Given the description of an element on the screen output the (x, y) to click on. 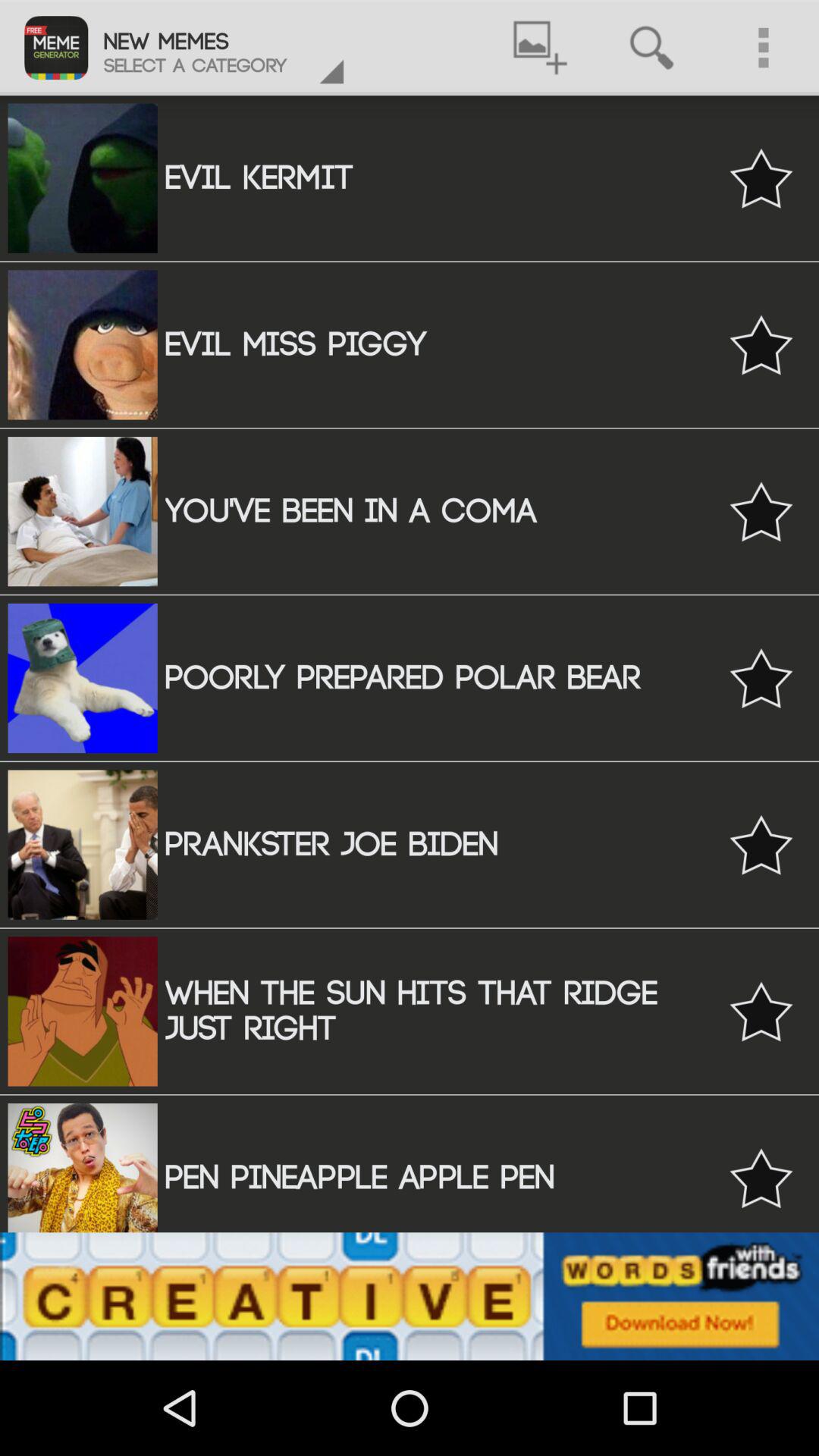
toggle favorite (761, 344)
